Given the description of an element on the screen output the (x, y) to click on. 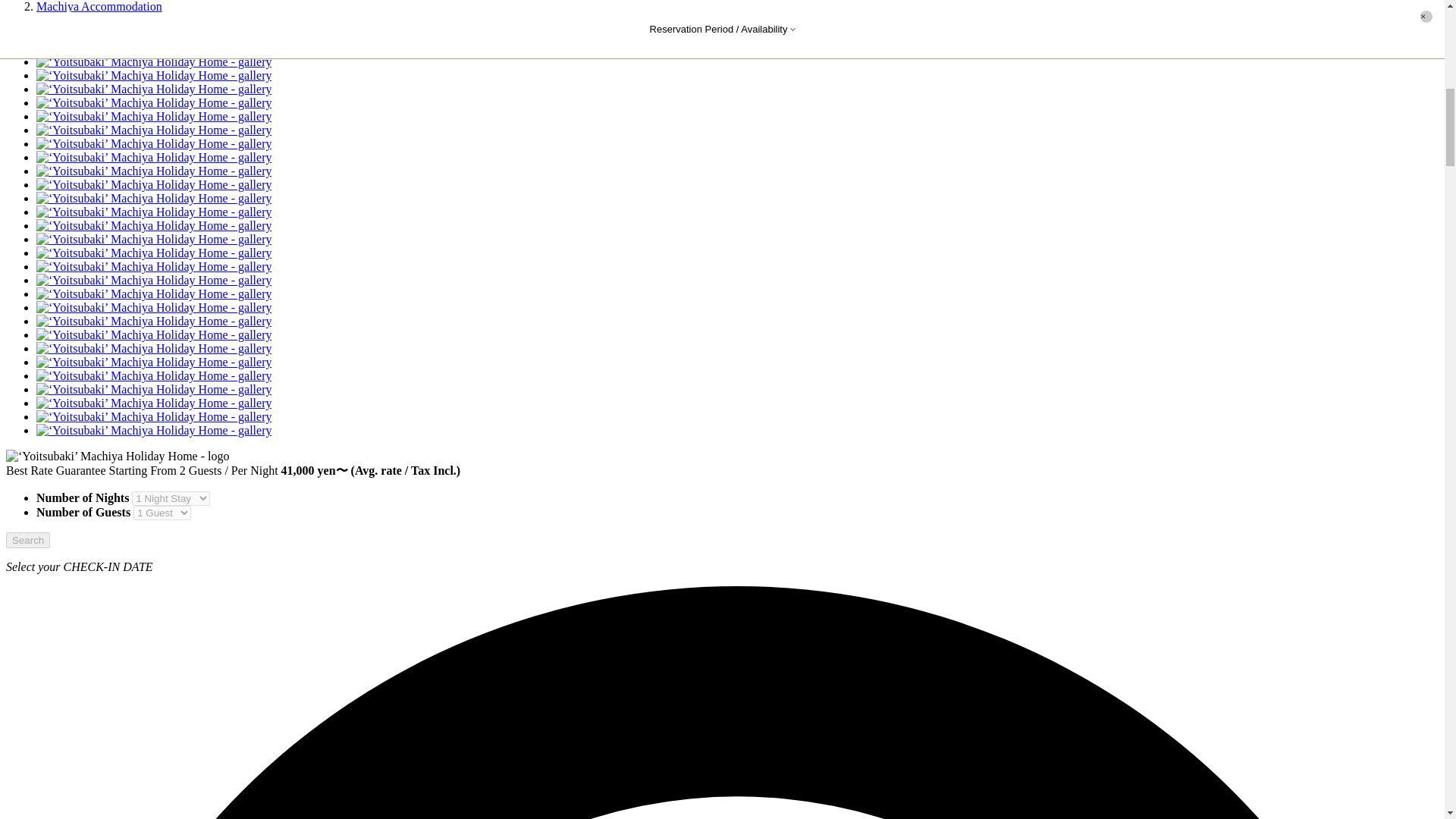
Machiya Accommodation (98, 6)
Search (27, 539)
